Given the description of an element on the screen output the (x, y) to click on. 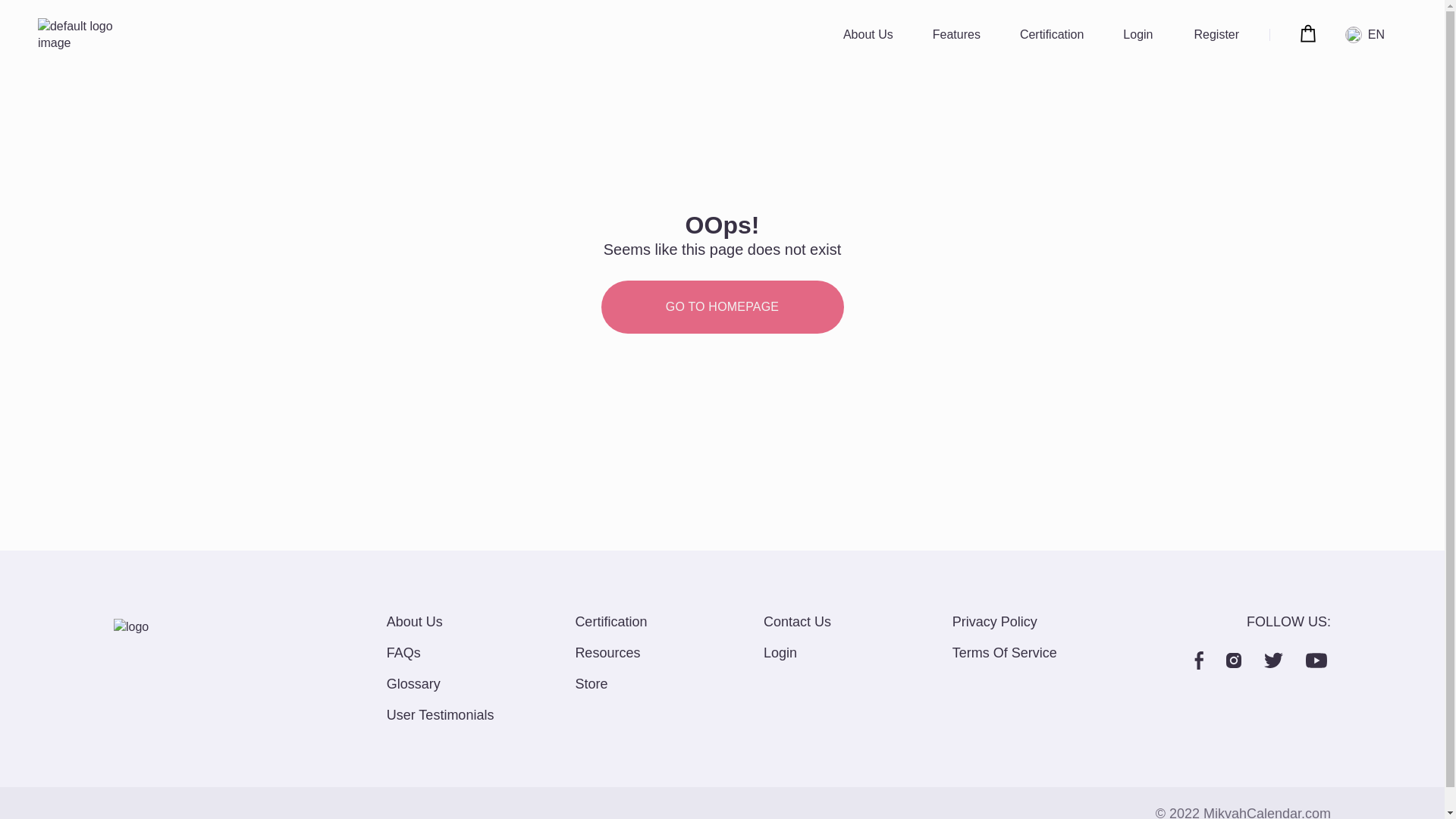
Login (1137, 34)
Register (1216, 34)
Mikvah calendar (86, 34)
Features (956, 34)
About Us (868, 34)
Mikvah calendar (162, 627)
Certification (1051, 34)
EN (1368, 34)
